Given the description of an element on the screen output the (x, y) to click on. 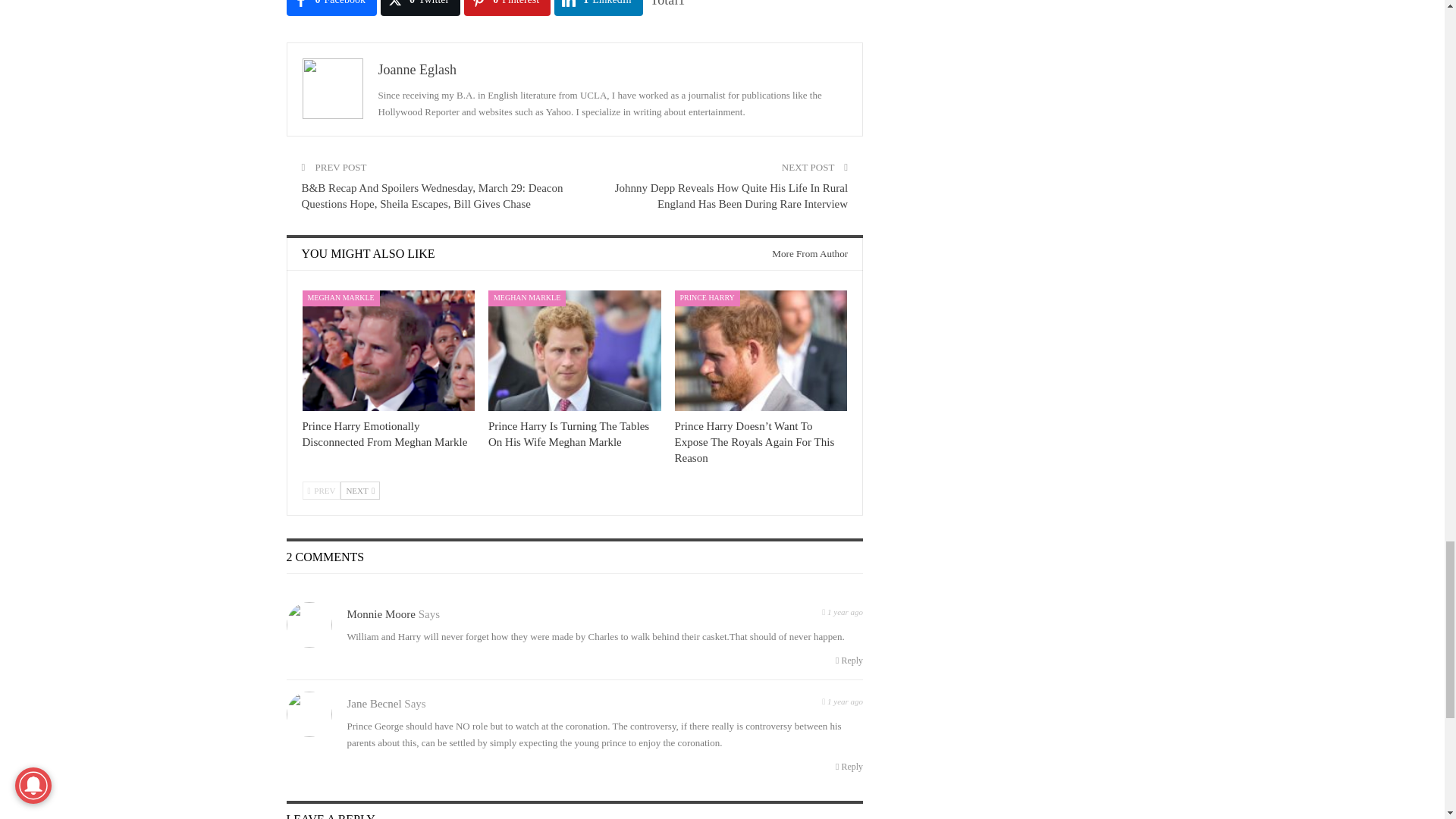
Share on Twitter (420, 7)
Share on Pinterest (507, 7)
Prince Harry Emotionally Disconnected From Meghan Markle (387, 350)
Share on Facebook (331, 7)
Total (667, 3)
Share on LinkedIn (598, 7)
